Given the description of an element on the screen output the (x, y) to click on. 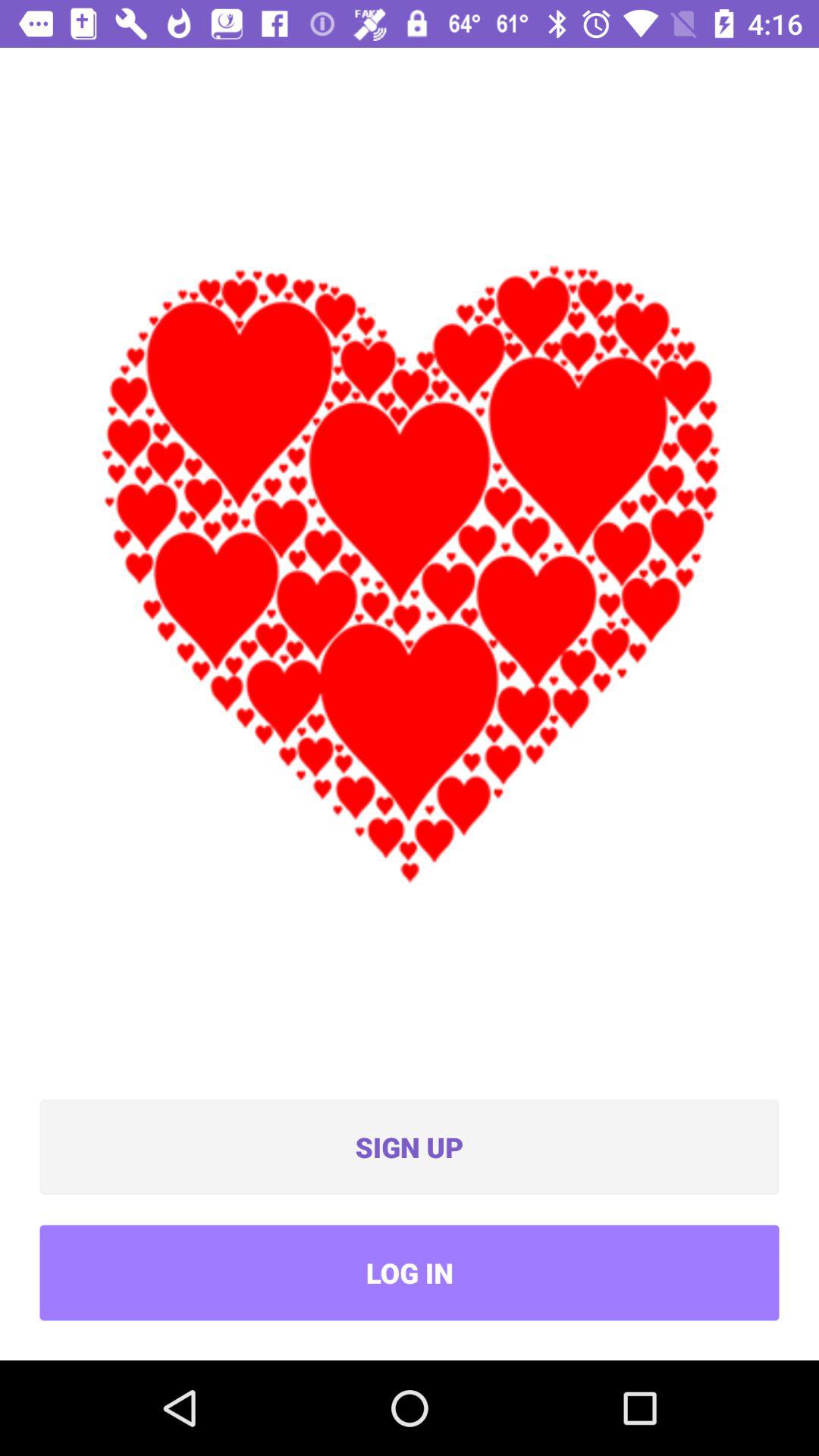
launch icon above the log in icon (409, 1146)
